Given the description of an element on the screen output the (x, y) to click on. 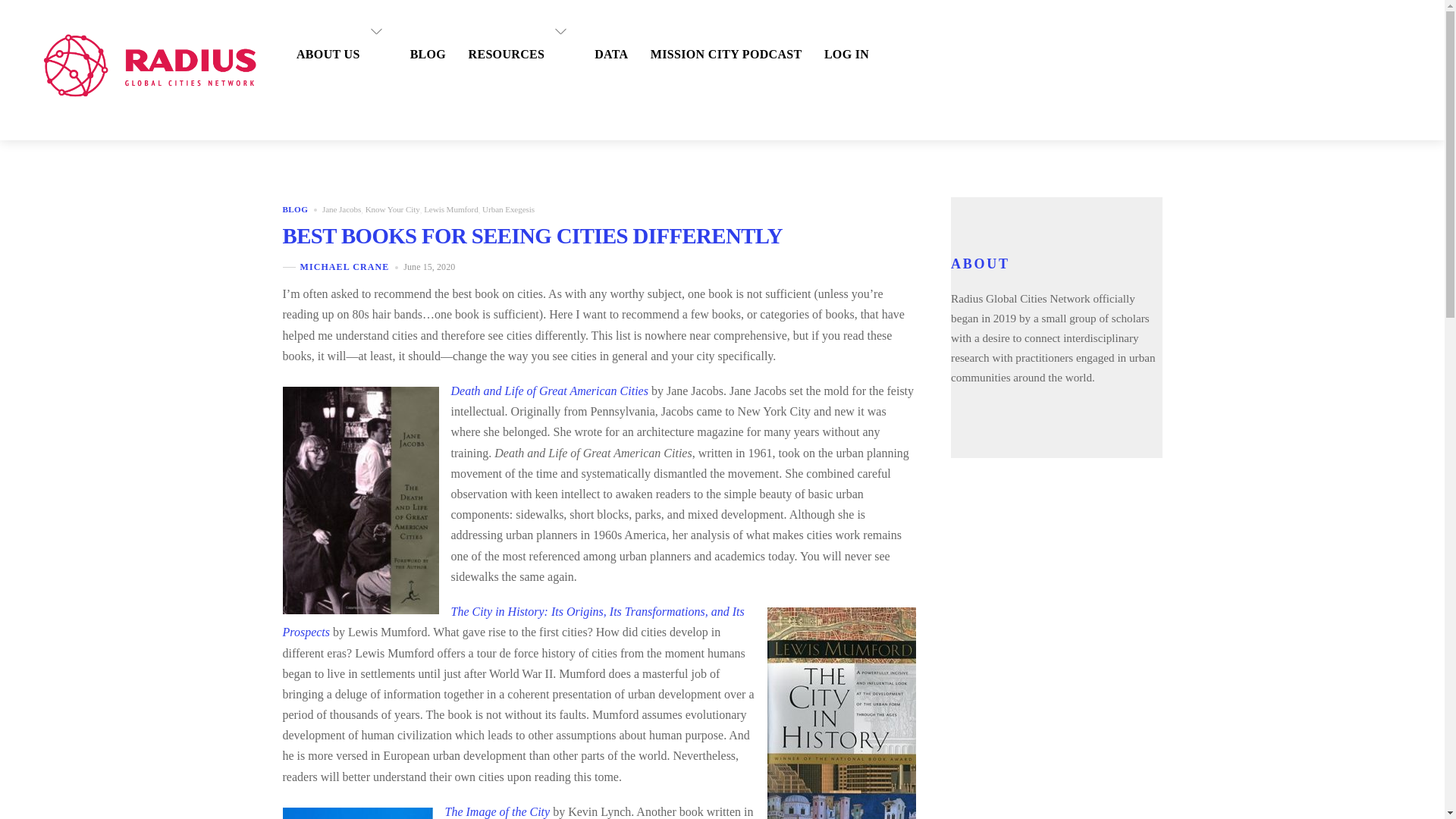
ABOUT US (339, 31)
MICHAEL CRANE (344, 266)
Death and Life of Great American Cities (548, 390)
The Image of the City (497, 811)
Urban Exegesis (507, 208)
RESOURCES (517, 31)
BLOG (294, 208)
Jane Jacobs (341, 208)
MISSION CITY PODCAST (722, 31)
